Given the description of an element on the screen output the (x, y) to click on. 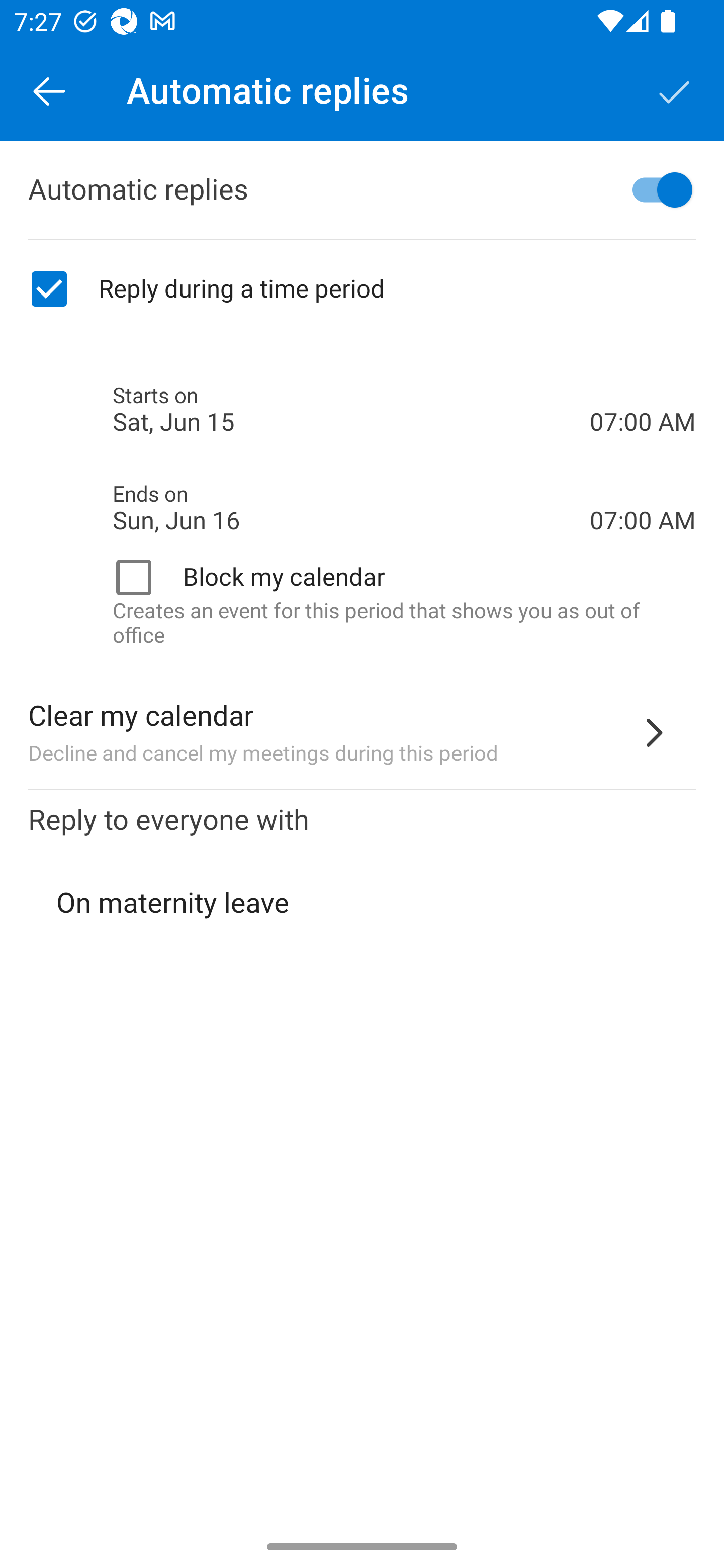
Back (49, 90)
Save (674, 90)
Automatic replies (362, 190)
Reply during a time period (362, 288)
07:00 AM (642, 387)
Starts on Sat, Jun 15 (351, 409)
07:00 AM (642, 485)
Ends on Sun, Jun 16 (351, 507)
Reply to everyone with Edit box On maternity leave (361, 887)
On maternity leave (363, 902)
